Given the description of an element on the screen output the (x, y) to click on. 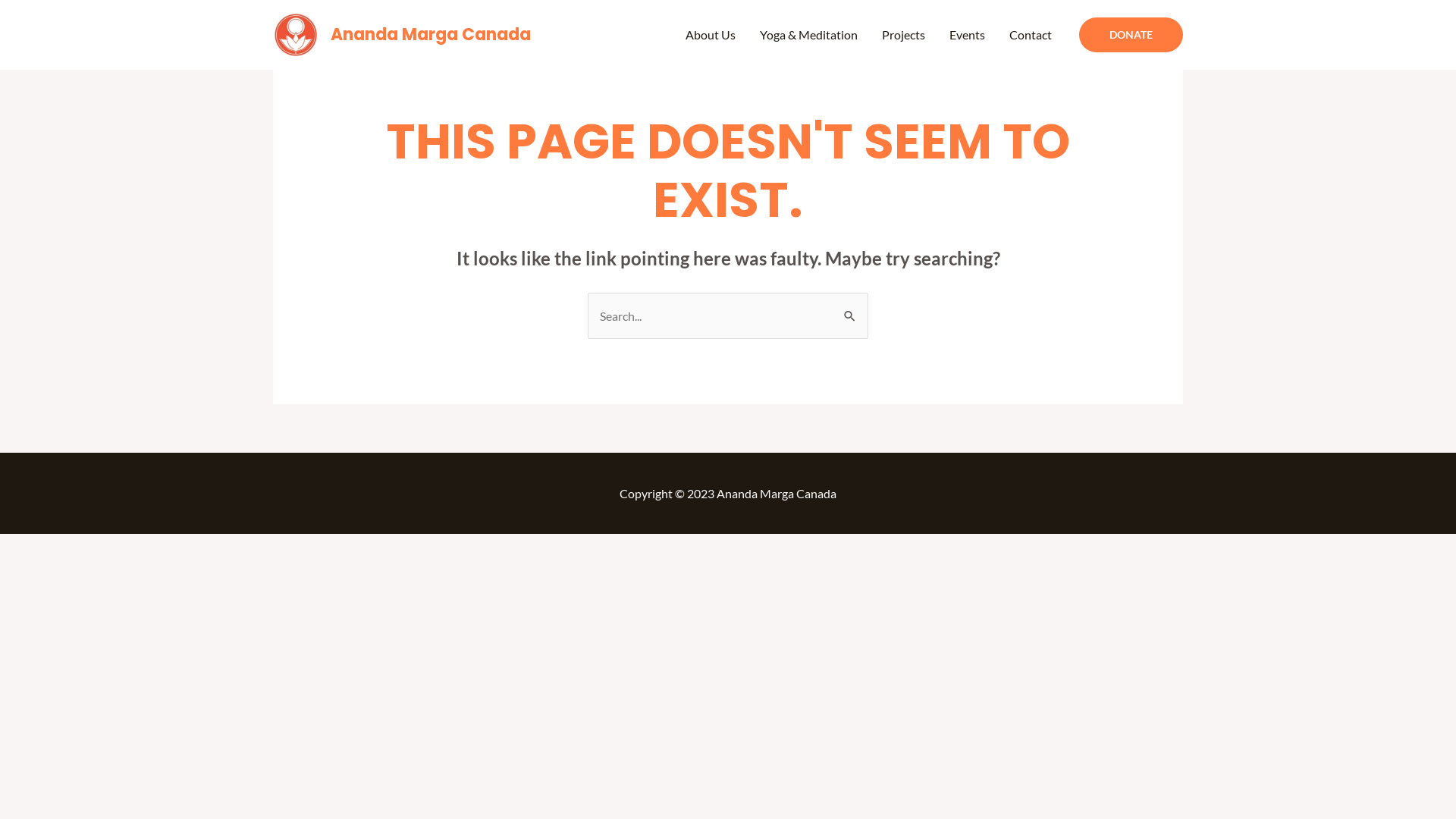
Projects Element type: text (903, 34)
Yoga & Meditation Element type: text (808, 34)
About Us Element type: text (710, 34)
Events Element type: text (967, 34)
DONATE Element type: text (1131, 34)
Ananda Marga Canada Element type: text (430, 34)
Search Element type: text (851, 307)
Contact Element type: text (1030, 34)
